Given the description of an element on the screen output the (x, y) to click on. 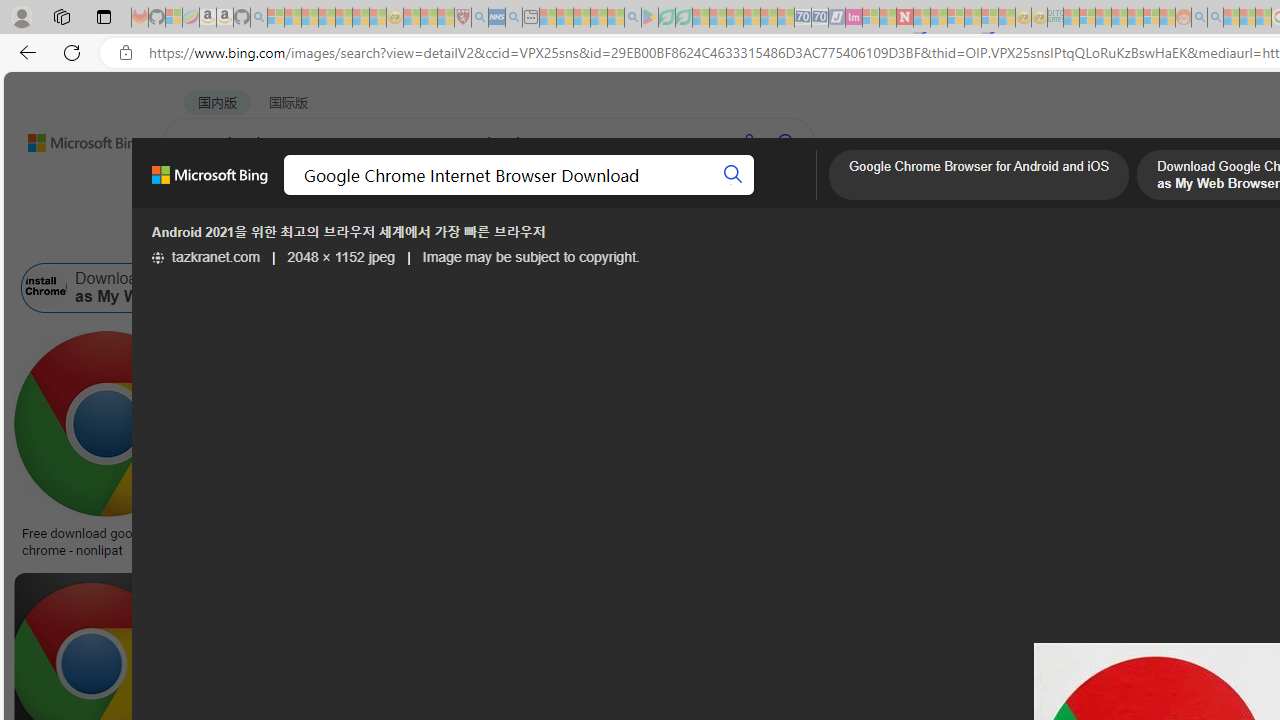
14 Common Myths Debunked By Scientific Facts - Sleeping (938, 17)
Back to Bing search (73, 138)
Type (373, 237)
Local - MSN - Sleeping (445, 17)
Download video online chrome - hresadish (332, 541)
Layout (443, 237)
Download Google Chrome as My Web Browser (152, 287)
ACADEMIC (635, 195)
Google Chrome Web Browser Free Download (542, 287)
Microsoft account | Privacy - Sleeping (1087, 17)
New Report Confirms 2023 Was Record Hot | Watch - Sleeping (343, 17)
Jobs - lastminute.com Investor Portal - Sleeping (853, 17)
